Given the description of an element on the screen output the (x, y) to click on. 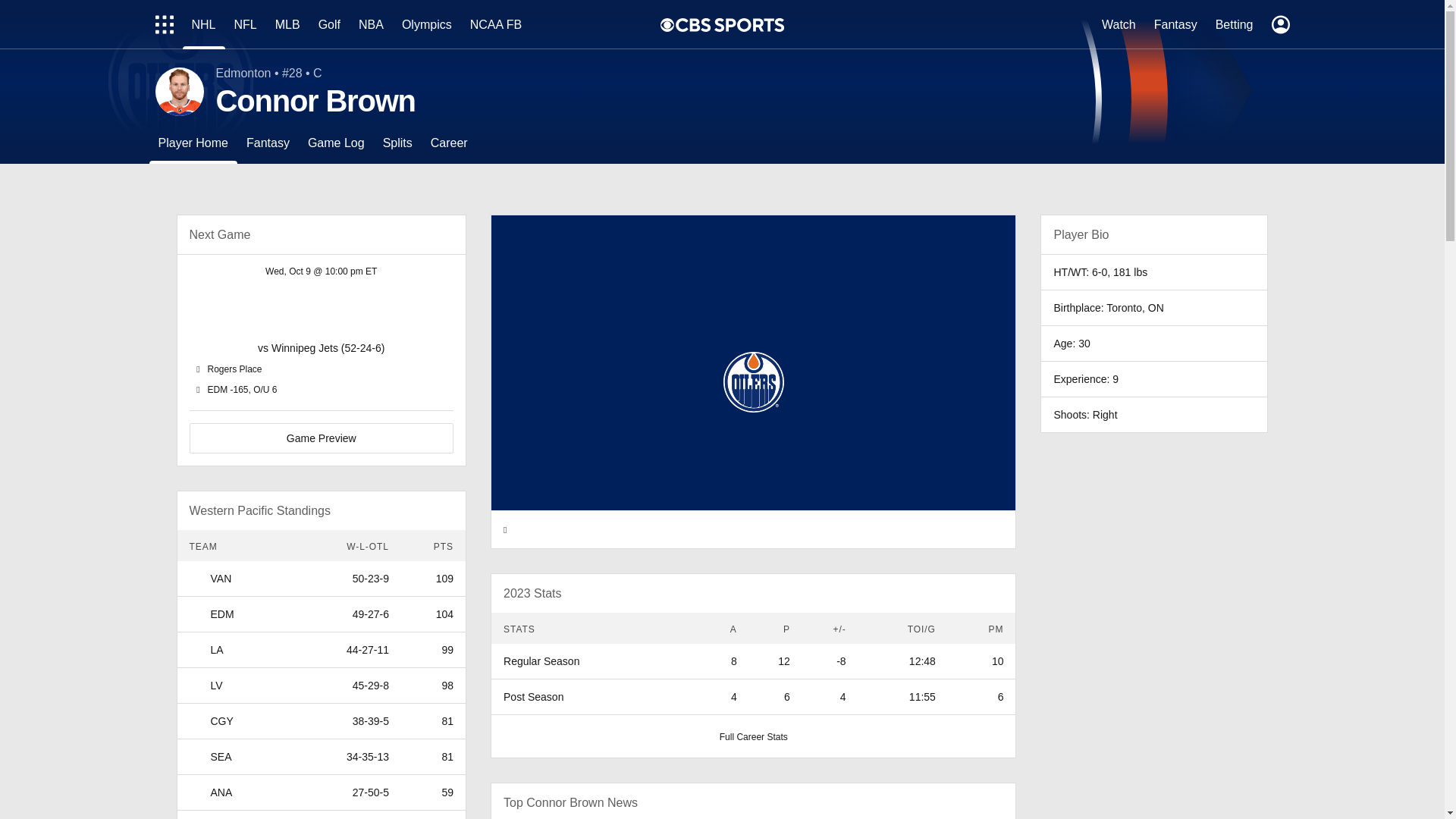
CBS Logo (729, 24)
CBS Eye (667, 24)
